Given the description of an element on the screen output the (x, y) to click on. 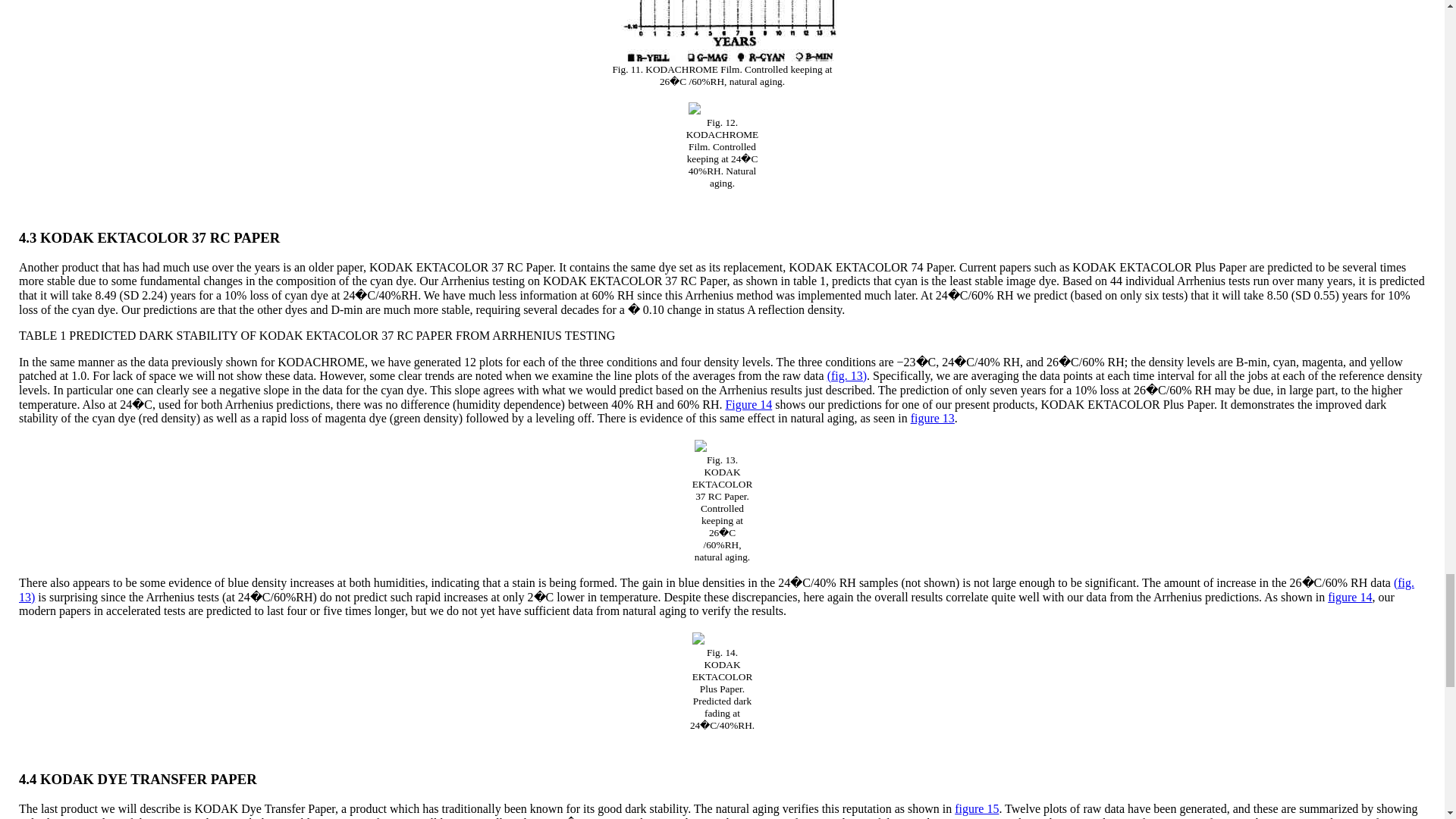
figure 14 (1349, 596)
Figure 14 (748, 404)
figure 13 (933, 418)
figure 15 (976, 808)
